Given the description of an element on the screen output the (x, y) to click on. 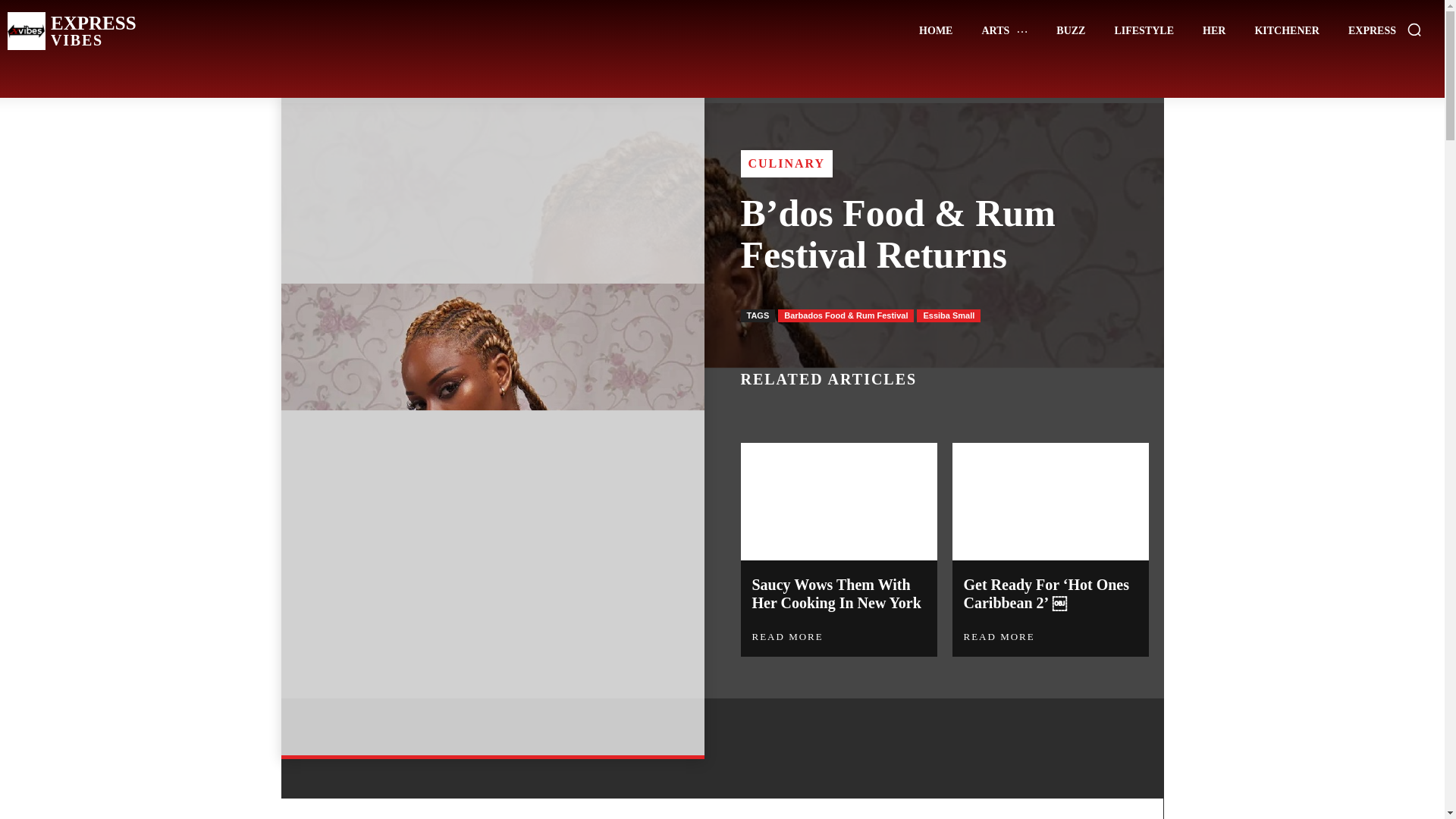
Saucy Wows Them With Her Cooking In New York (836, 593)
ARTS (1004, 30)
HOME (935, 30)
Saucy Wows Them With Her Cooking In New York (71, 30)
